Given the description of an element on the screen output the (x, y) to click on. 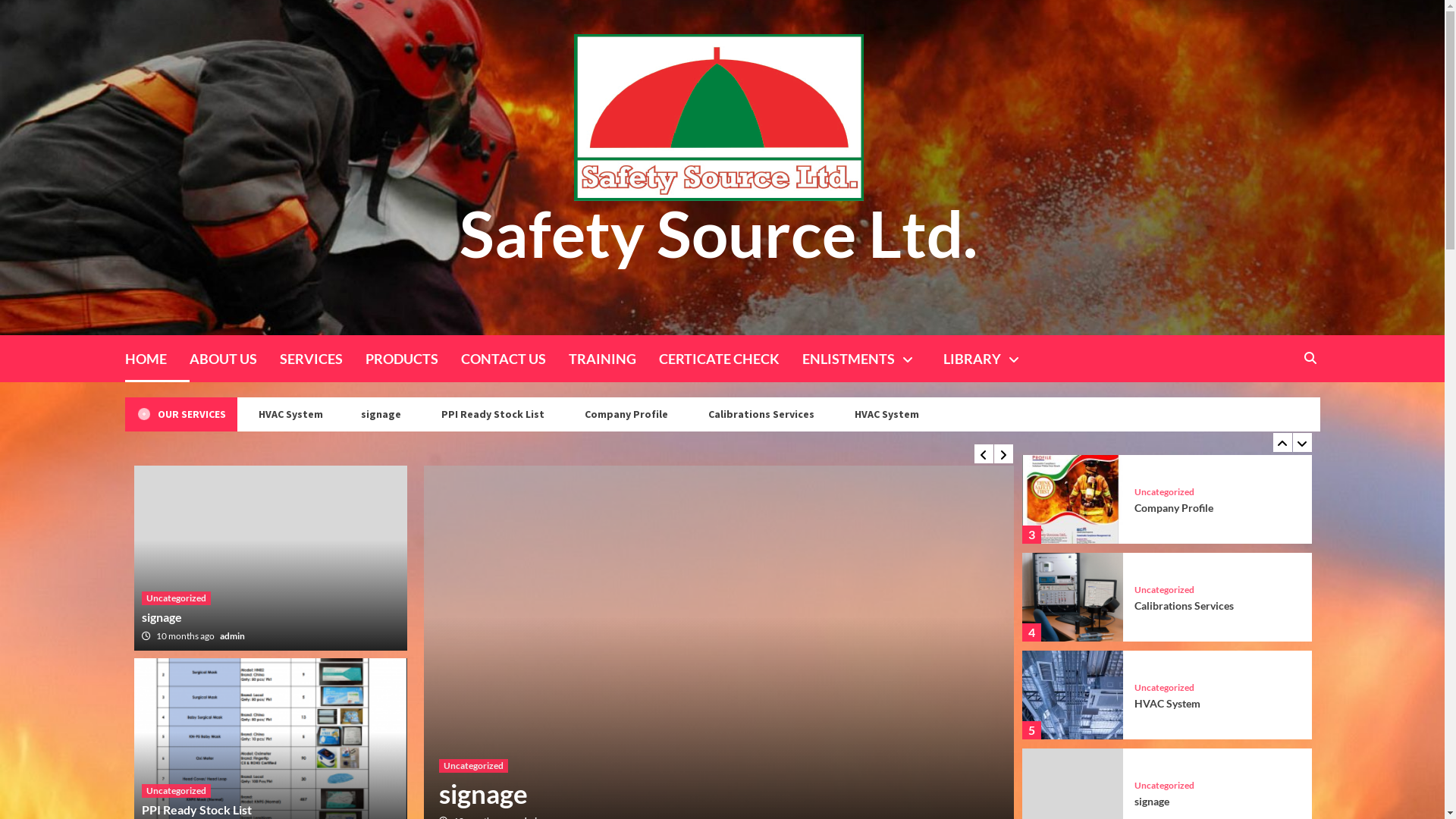
TRAINING Element type: text (613, 358)
Search Element type: hover (1310, 357)
Company Profile Element type: text (675, 413)
admin Element type: text (231, 635)
SERVICES Element type: text (321, 358)
HVAC System Element type: text (935, 413)
Uncategorized Element type: text (1164, 687)
Safety Source Ltd. Element type: text (718, 232)
Uncategorized Element type: text (175, 790)
HVAC System Element type: text (340, 413)
PPI Ready Stock List Element type: text (196, 809)
Calibrations Services Element type: text (1183, 702)
PPI Ready Stock List Element type: text (1182, 507)
HVAC System Element type: text (1167, 800)
signage Element type: text (430, 413)
signage Element type: text (161, 616)
Uncategorized Element type: text (1164, 491)
HOME Element type: text (156, 358)
Uncategorized Element type: text (1164, 589)
10 months ago Element type: text (186, 635)
PRODUCTS Element type: text (413, 358)
LIBRARY Element type: text (996, 358)
ABOUT US Element type: text (234, 358)
Search Element type: text (1274, 406)
Uncategorized Element type: text (472, 764)
ENLISTMENTS Element type: text (872, 358)
Uncategorized Element type: text (175, 598)
Calibrations Services Element type: text (809, 413)
PPI Ready Stock List Element type: text (541, 413)
CONTACT US Element type: text (514, 358)
CERTICATE CHECK Element type: text (729, 358)
Calibrations Services Element type: text (215, 413)
Company Profile Element type: text (1173, 605)
signage Element type: text (482, 792)
Uncategorized Element type: text (1164, 785)
